Given the description of an element on the screen output the (x, y) to click on. 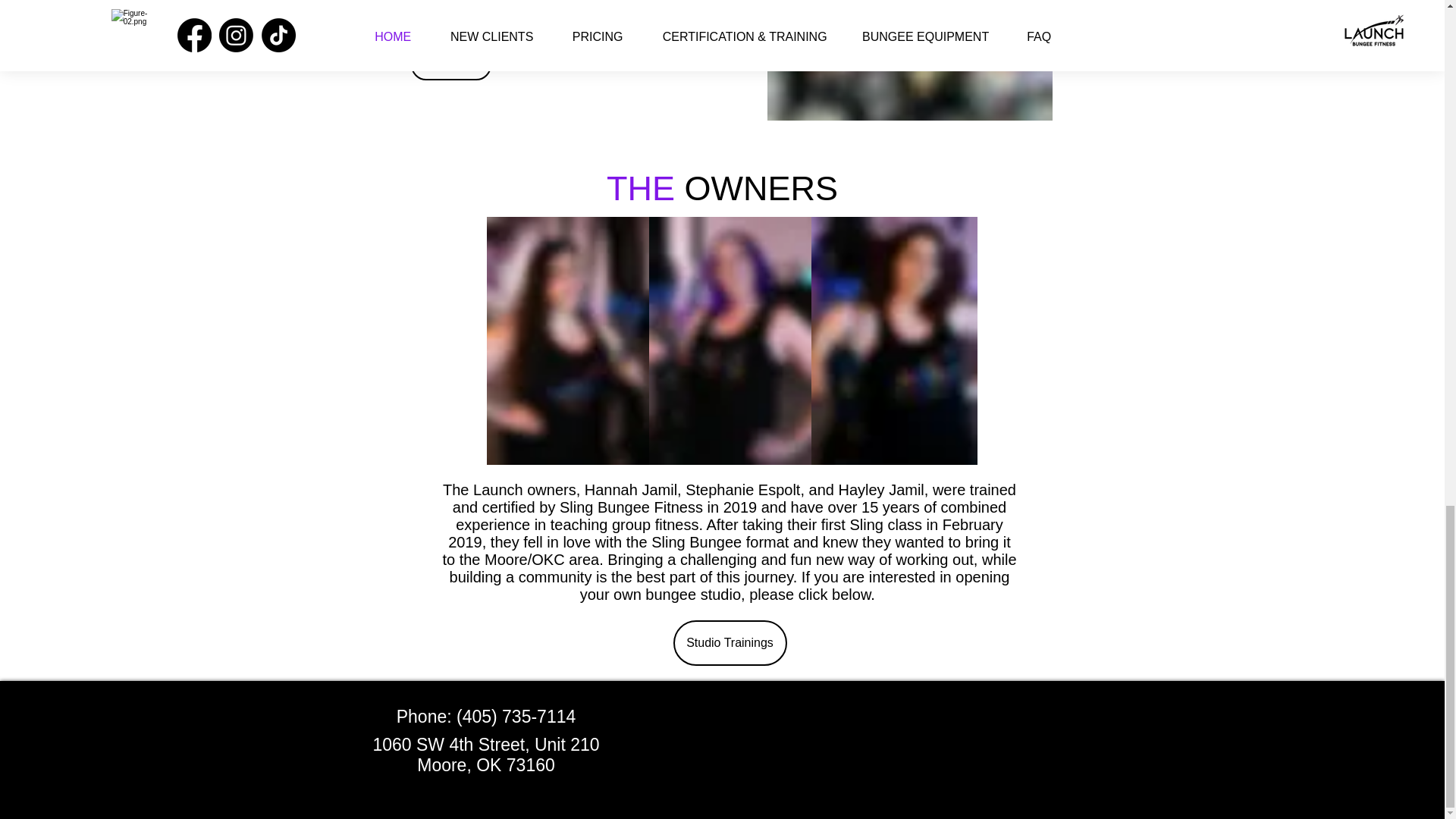
CLASSES (451, 64)
Studio Trainings (729, 642)
